Given the description of an element on the screen output the (x, y) to click on. 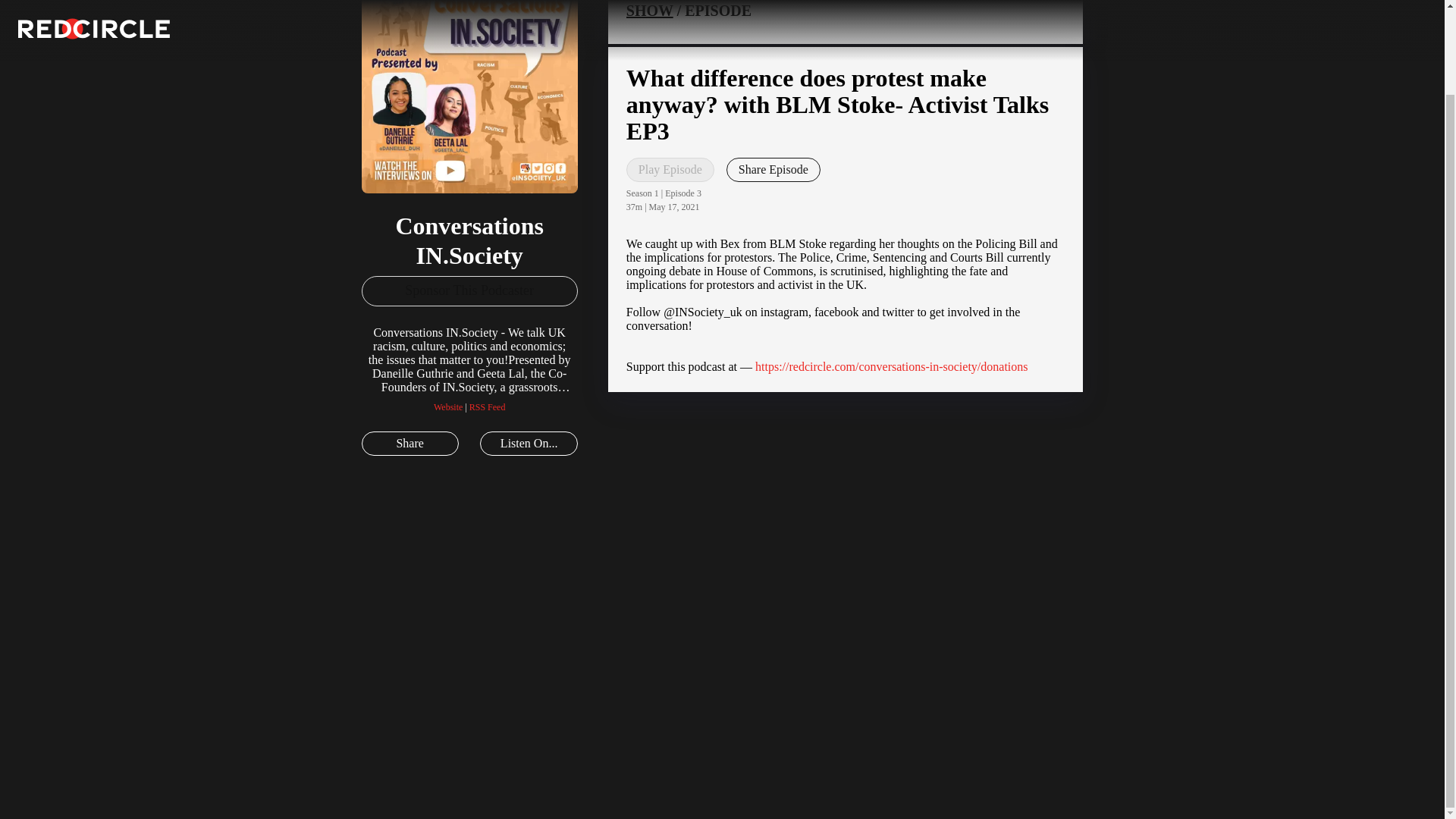
Sponsor This Podcaster (468, 291)
Share (409, 443)
RSS Feed (486, 407)
Website (448, 407)
Listen On... (528, 443)
Play Episode (670, 169)
Share Episode (773, 169)
SHOW (649, 10)
